Given the description of an element on the screen output the (x, y) to click on. 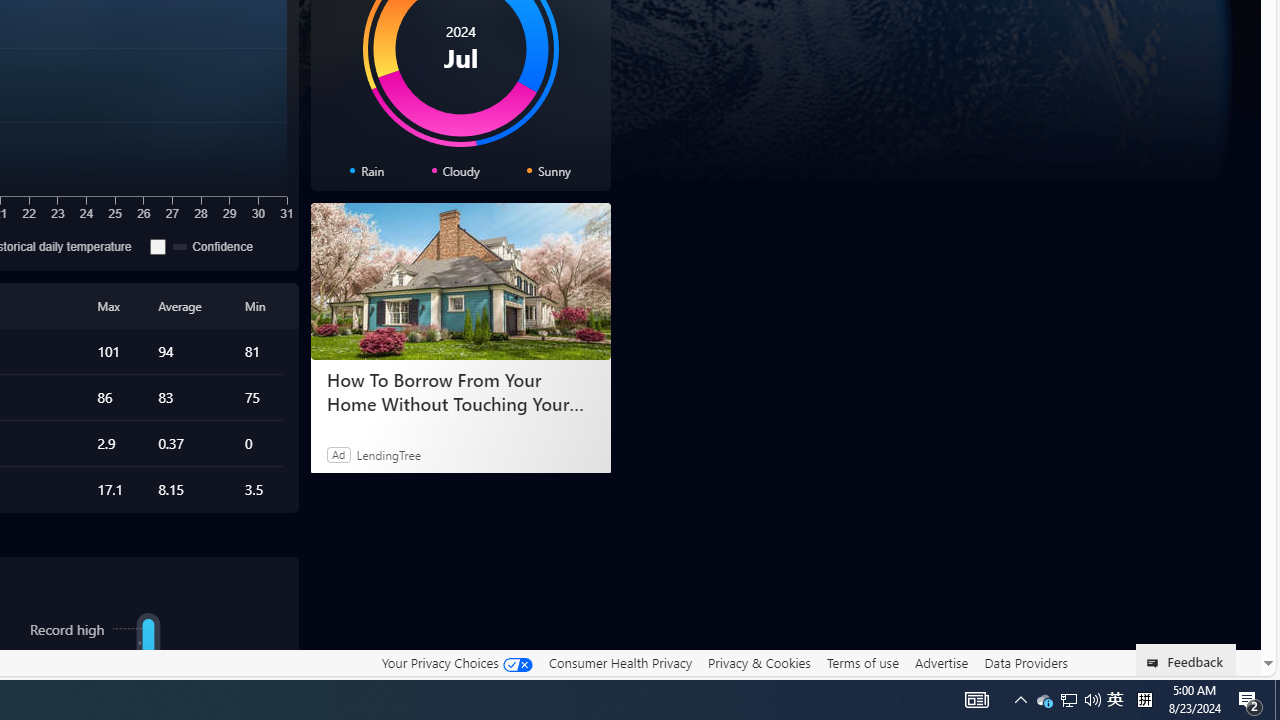
LendingTree (388, 453)
Consumer Health Privacy (619, 663)
Privacy & Cookies (759, 663)
Data Providers (1025, 662)
Terms of use (861, 662)
Terms of use (861, 663)
Class: feedback_link_icon-DS-EntryPoint1-1 (1156, 663)
Your Privacy Choices (456, 663)
Your Privacy Choices (456, 662)
Data Providers (1025, 663)
Confidence (157, 246)
Consumer Health Privacy (619, 662)
